Given the description of an element on the screen output the (x, y) to click on. 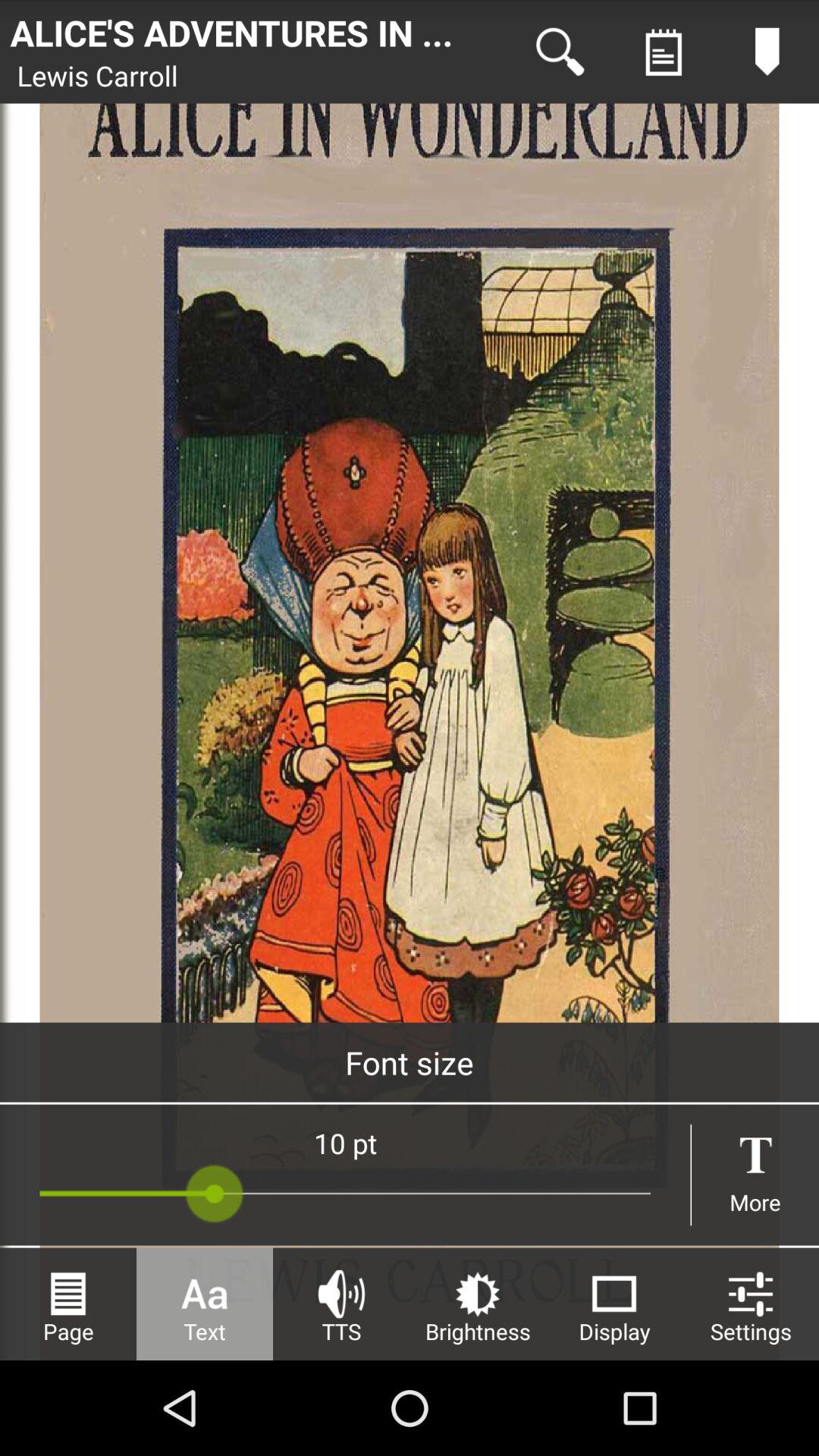
search (559, 51)
